Given the description of an element on the screen output the (x, y) to click on. 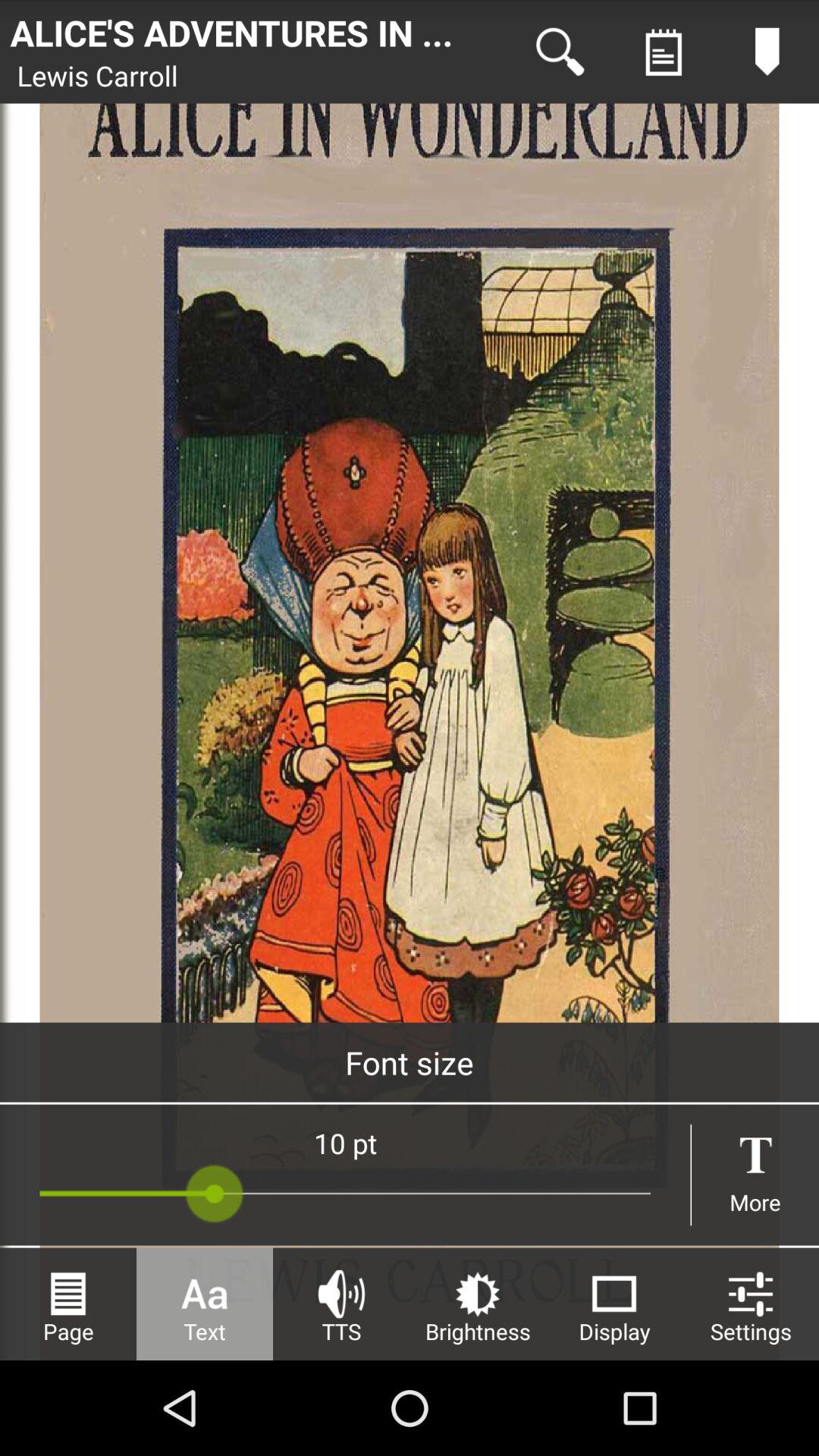
search (559, 51)
